Given the description of an element on the screen output the (x, y) to click on. 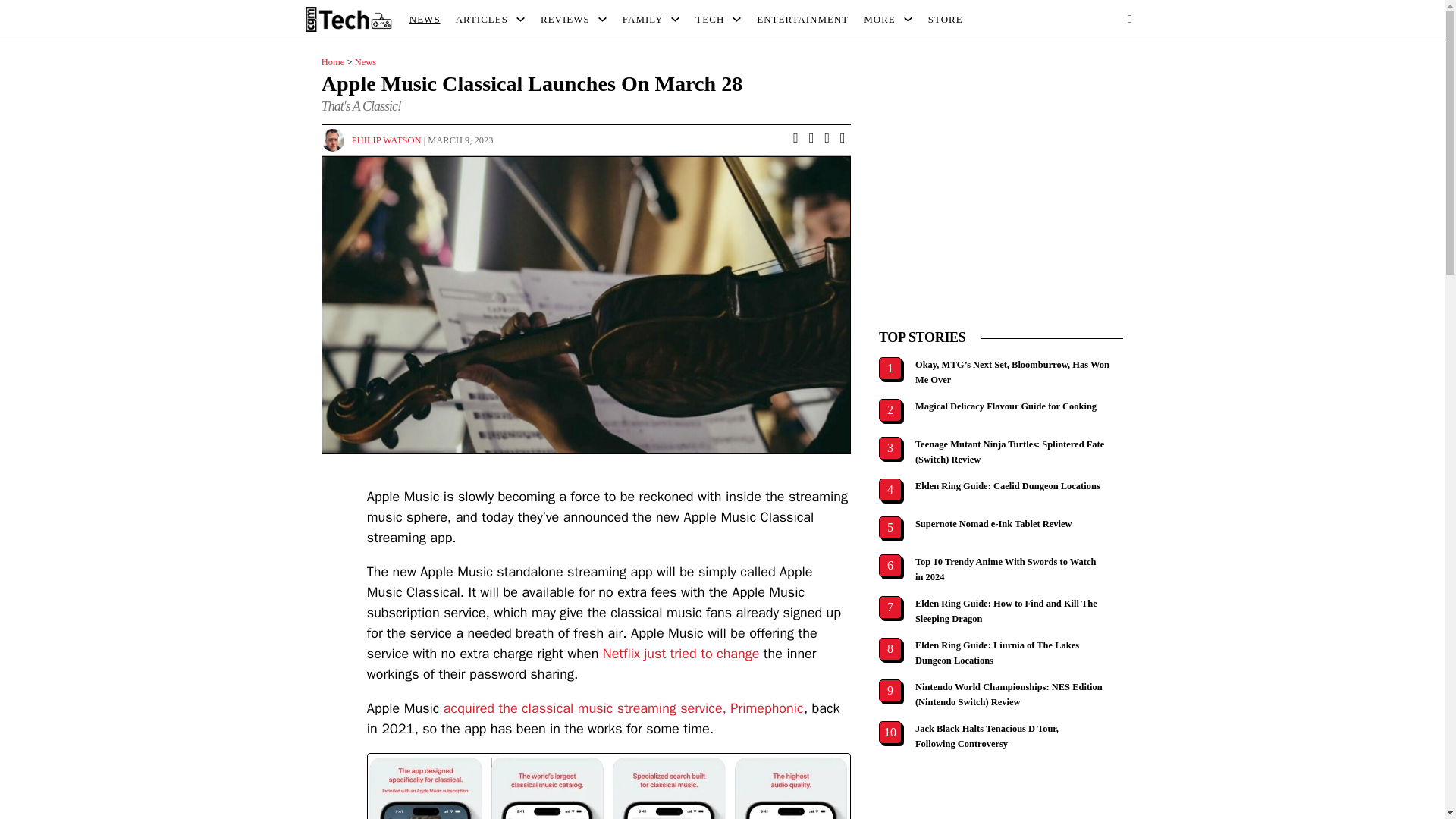
Apple Music Classical Launches On March 28 (608, 785)
Philip Watson (387, 140)
